Given the description of an element on the screen output the (x, y) to click on. 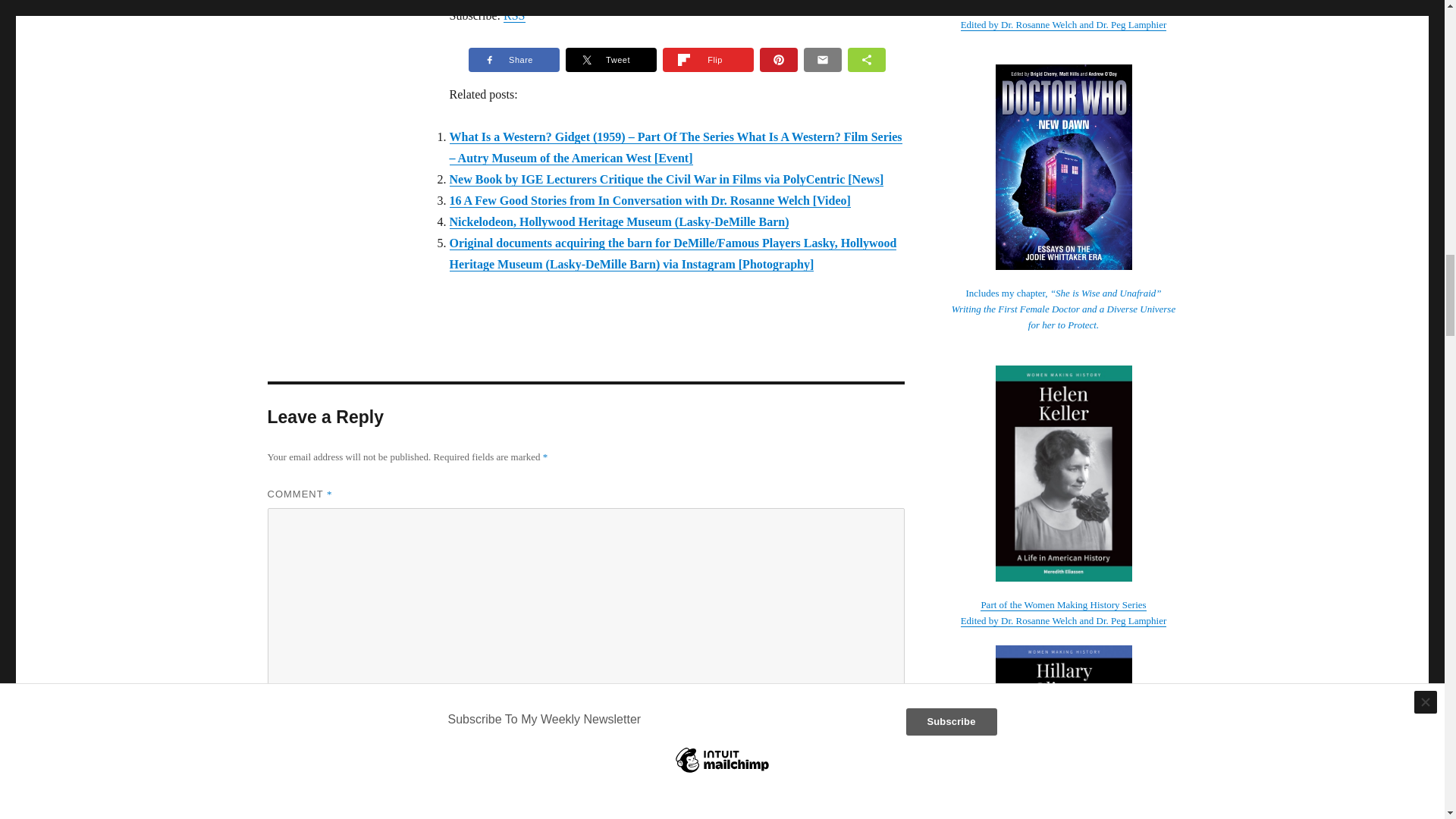
RSS (513, 15)
Subscribe via RSS (513, 15)
